Given the description of an element on the screen output the (x, y) to click on. 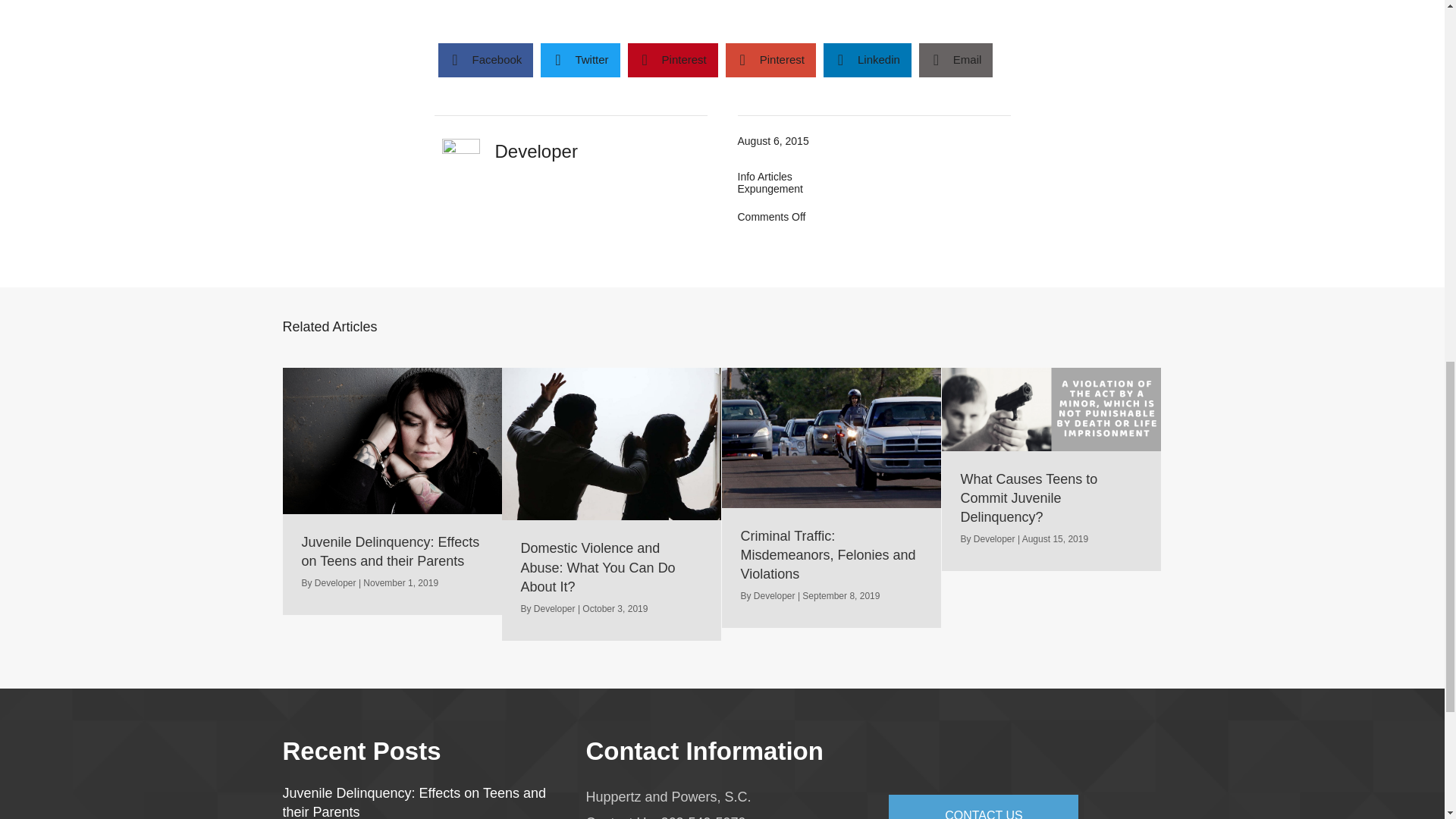
Developer (774, 595)
Juvenile Delinquency (1051, 409)
criminal traffic (832, 437)
domestic violence (612, 443)
Expungement (769, 188)
Pinterest (672, 59)
Pinterest (770, 59)
Developer (554, 608)
Twitter (580, 59)
Developer (994, 538)
What Causes Teens to Commit Juvenile Delinquency? (1051, 469)
Juvenile Delinquency: Effects on Teens and their Parents (414, 802)
CONTACT US (983, 806)
juvenile delinquency (392, 440)
Info Articles (764, 176)
